Given the description of an element on the screen output the (x, y) to click on. 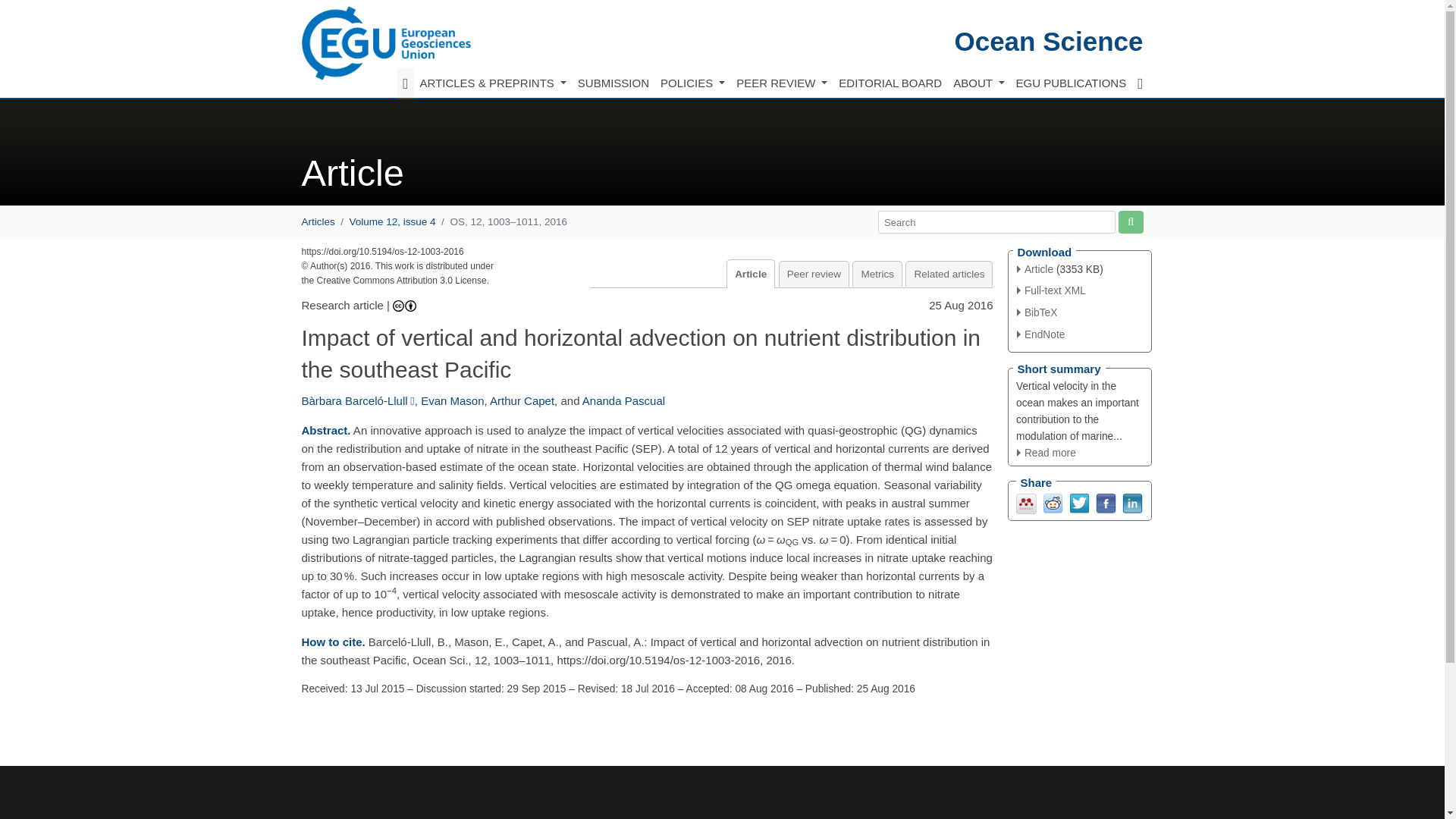
SUBMISSION (612, 83)
Twitter (1078, 502)
Start site search (1130, 221)
Ocean Science (1047, 41)
XML Version (1051, 290)
PEER REVIEW (781, 83)
Facebook (1104, 502)
Reddit (1052, 502)
Mendeley (1026, 502)
POLICIES (691, 83)
